Given the description of an element on the screen output the (x, y) to click on. 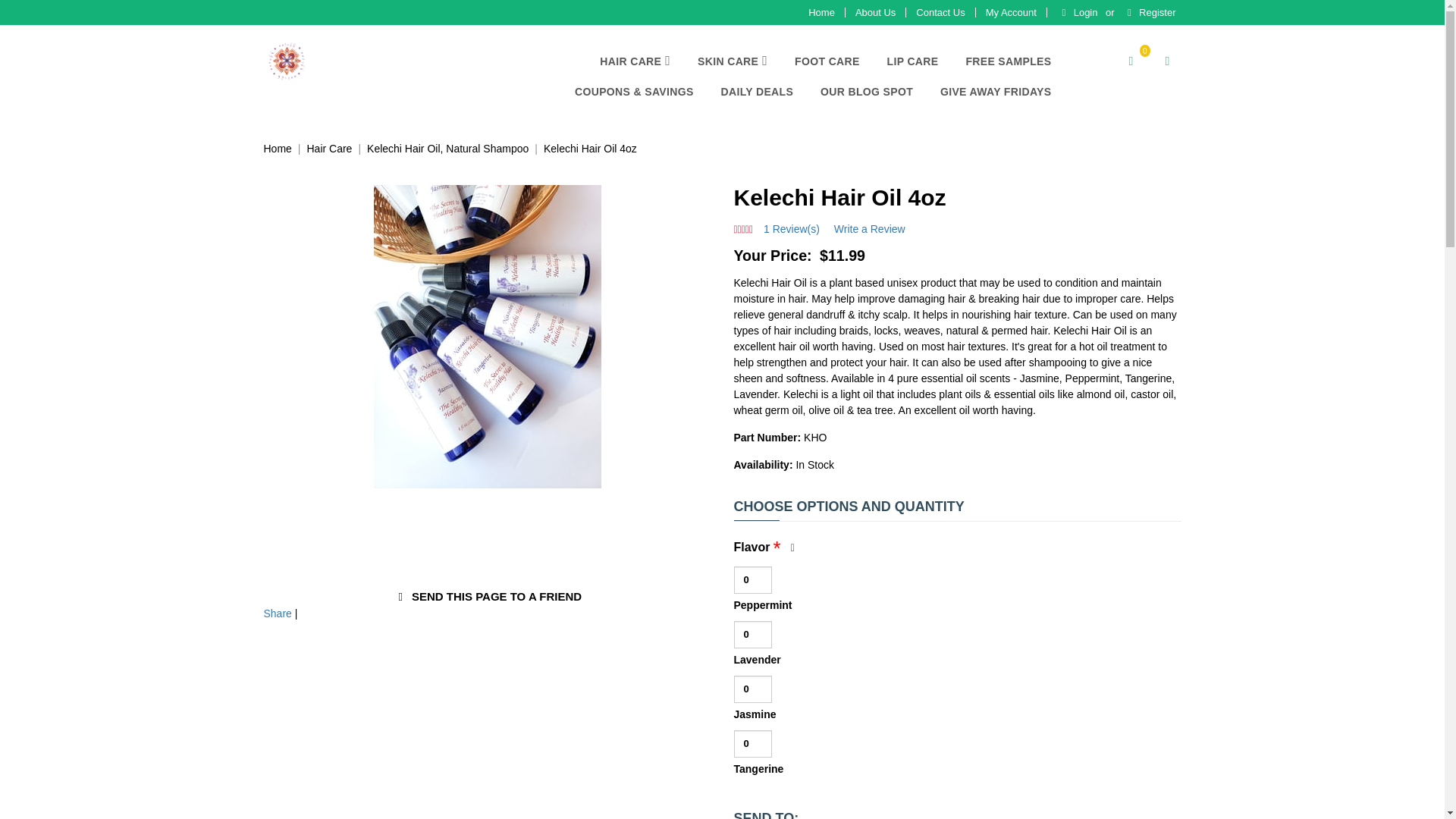
Hair Care (328, 148)
Login (1077, 12)
0 (752, 743)
My Account (1010, 12)
DAILY DEALS (757, 91)
OUR BLOG SPOT (866, 91)
SKIN CARE (731, 60)
0 (1130, 60)
Kelechi Hair Oil 4oz (590, 148)
Home (277, 148)
About Us (875, 12)
0 (752, 579)
Register (1148, 12)
GIVE AWAY FRIDAYS (996, 91)
LIP CARE (912, 60)
